Given the description of an element on the screen output the (x, y) to click on. 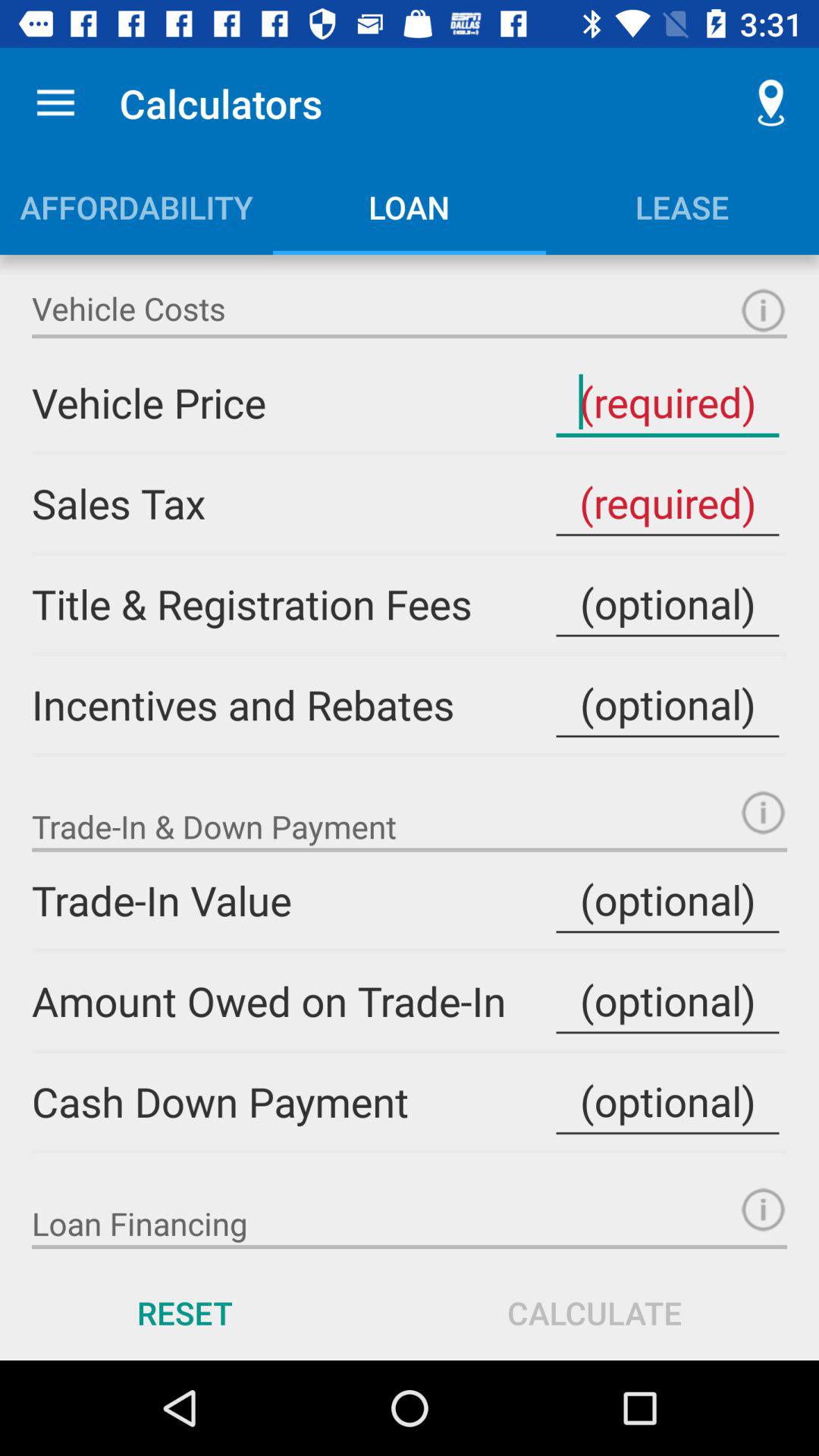
enter incentives (667, 704)
